Given the description of an element on the screen output the (x, y) to click on. 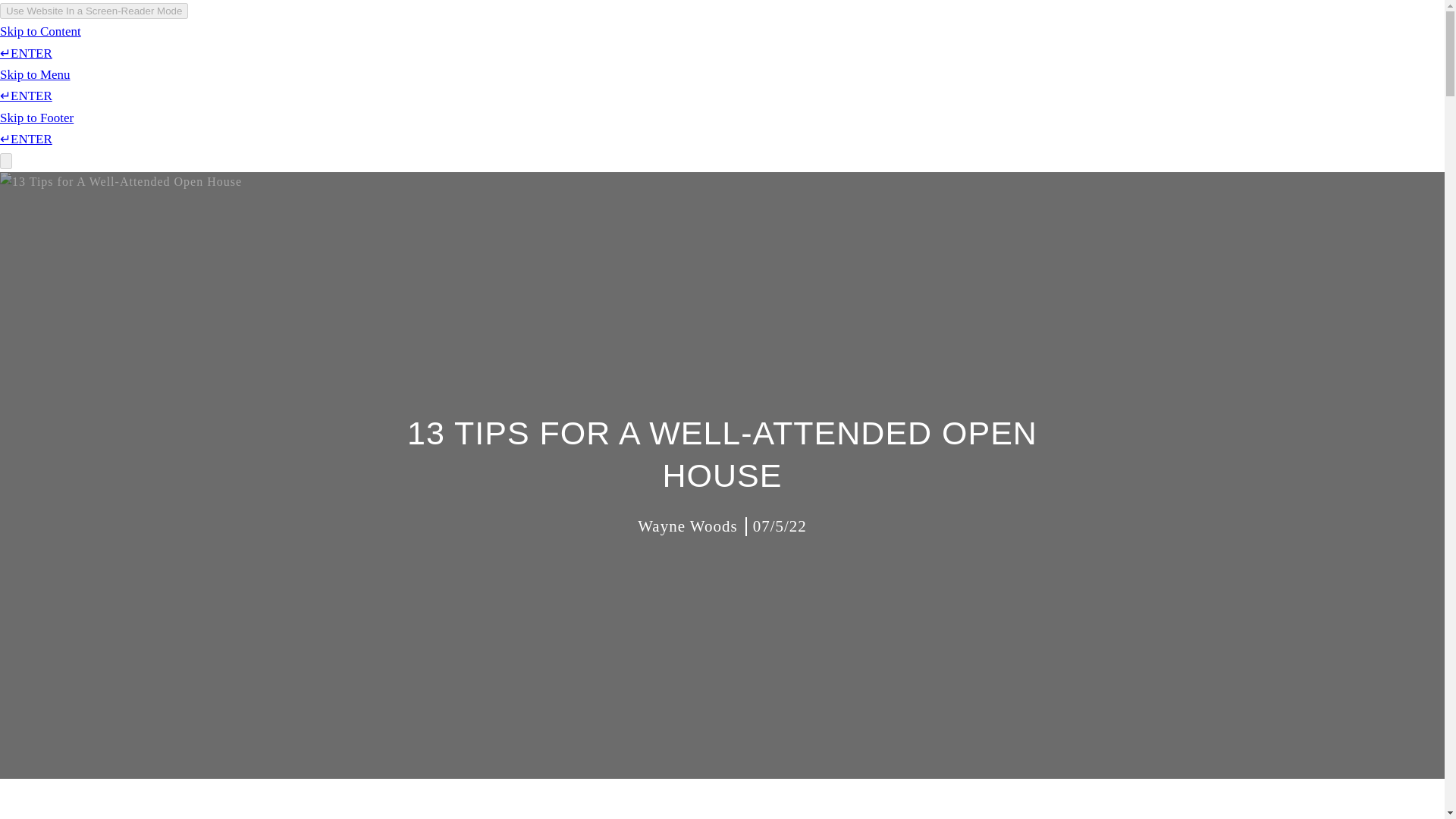
GET IN TOUCH (1065, 55)
HOME SEARCH (834, 55)
BUY (709, 55)
NEIGHBORHOODS (950, 55)
SELL (756, 55)
614.779.1830 (1162, 55)
